Given the description of an element on the screen output the (x, y) to click on. 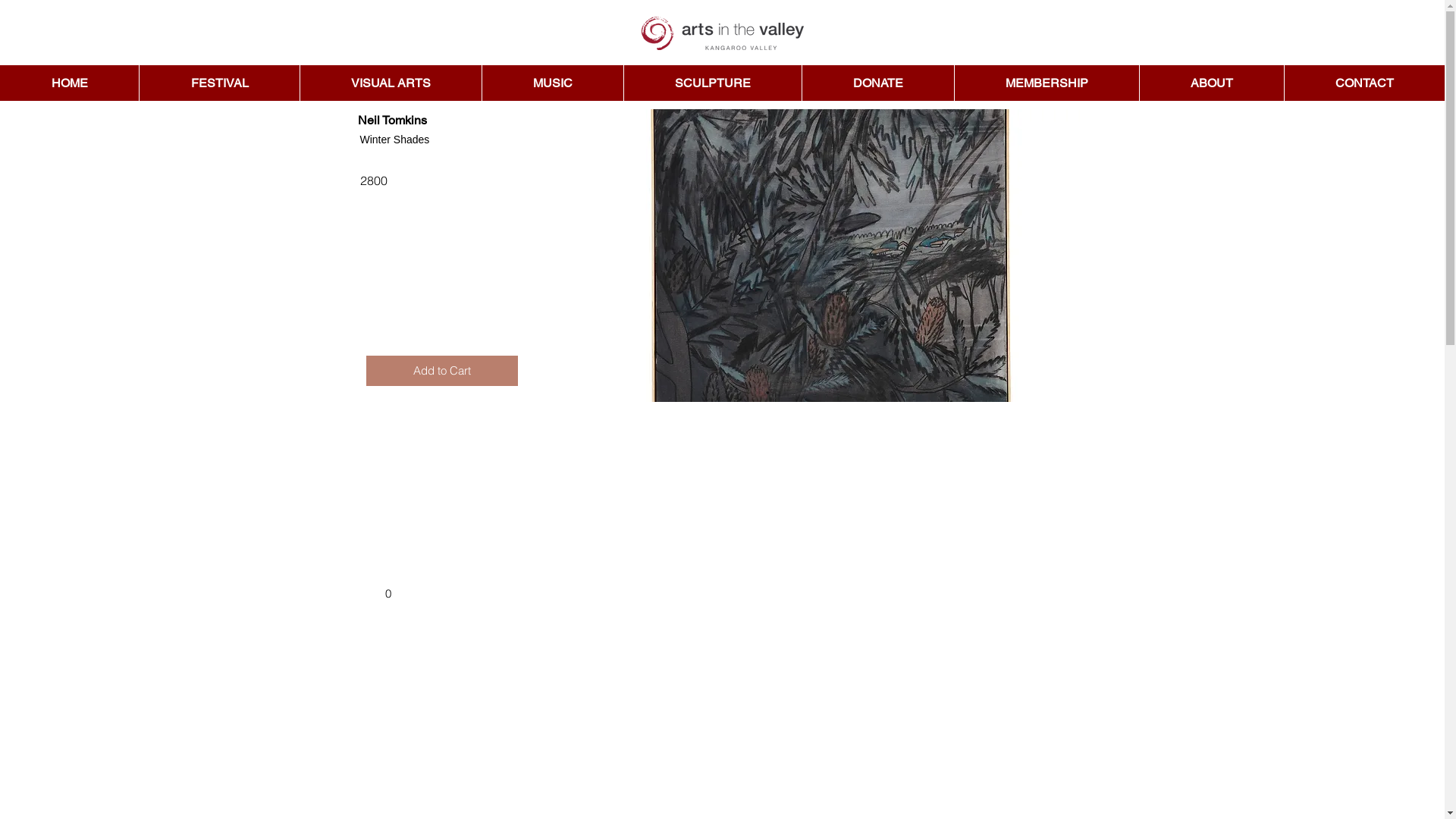
Neil Tomkins Element type: hover (830, 255)
HOME Element type: text (69, 82)
DONATE Element type: text (877, 82)
MEMBERSHIP Element type: text (1046, 82)
Add to Cart Element type: text (441, 370)
CONTACT Element type: text (1363, 82)
